Given the description of an element on the screen output the (x, y) to click on. 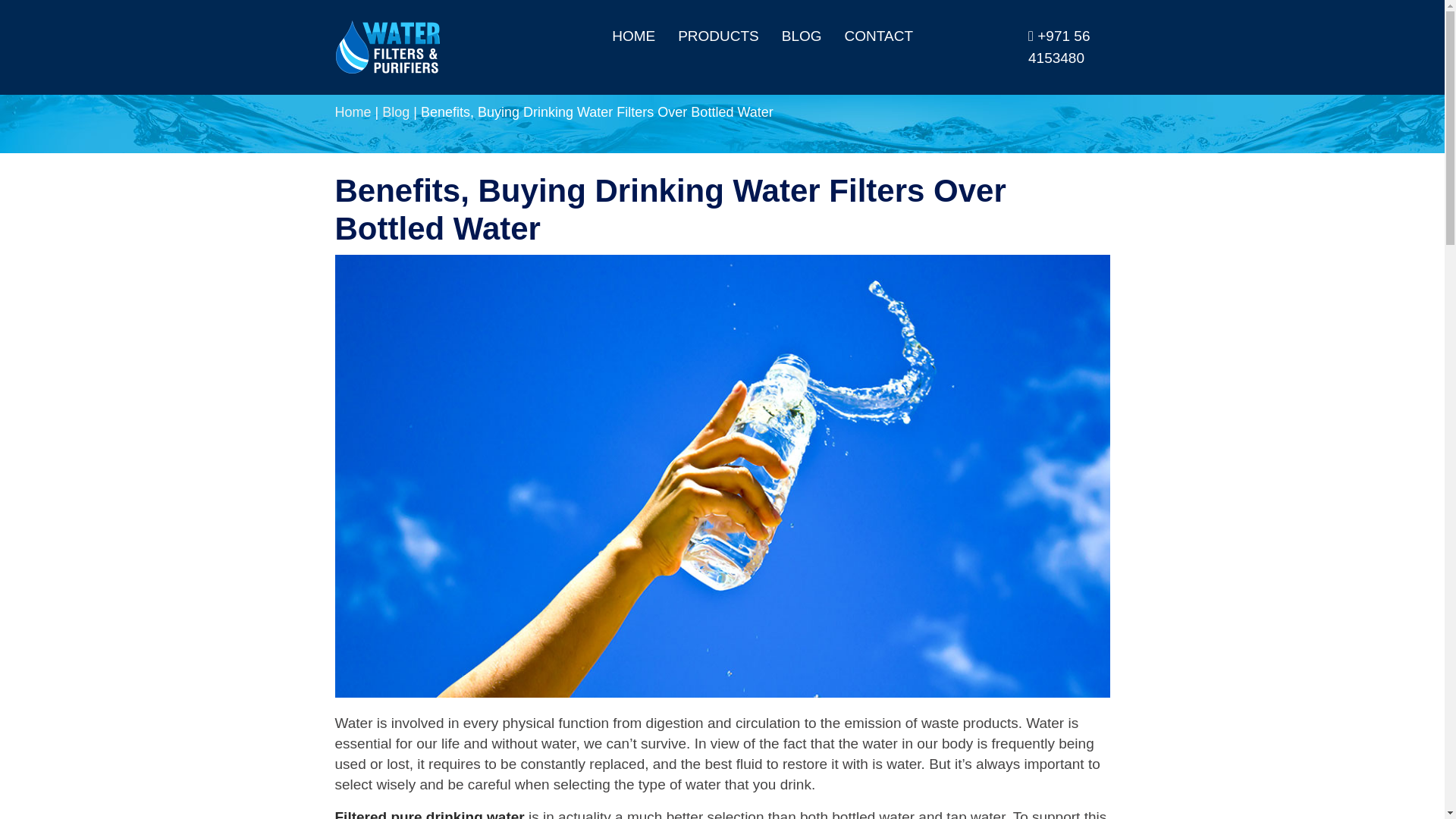
CONTACT (878, 36)
HOME (632, 36)
Home (352, 112)
Blog (395, 112)
Filtered pure drinking water (429, 812)
PRODUCTS (718, 36)
